Given the description of an element on the screen output the (x, y) to click on. 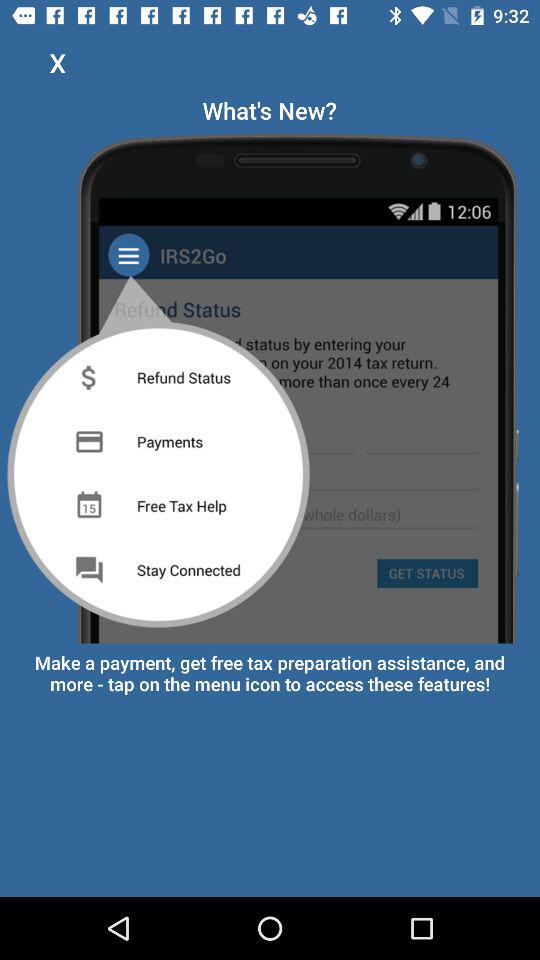
choose item at the top left corner (57, 62)
